Given the description of an element on the screen output the (x, y) to click on. 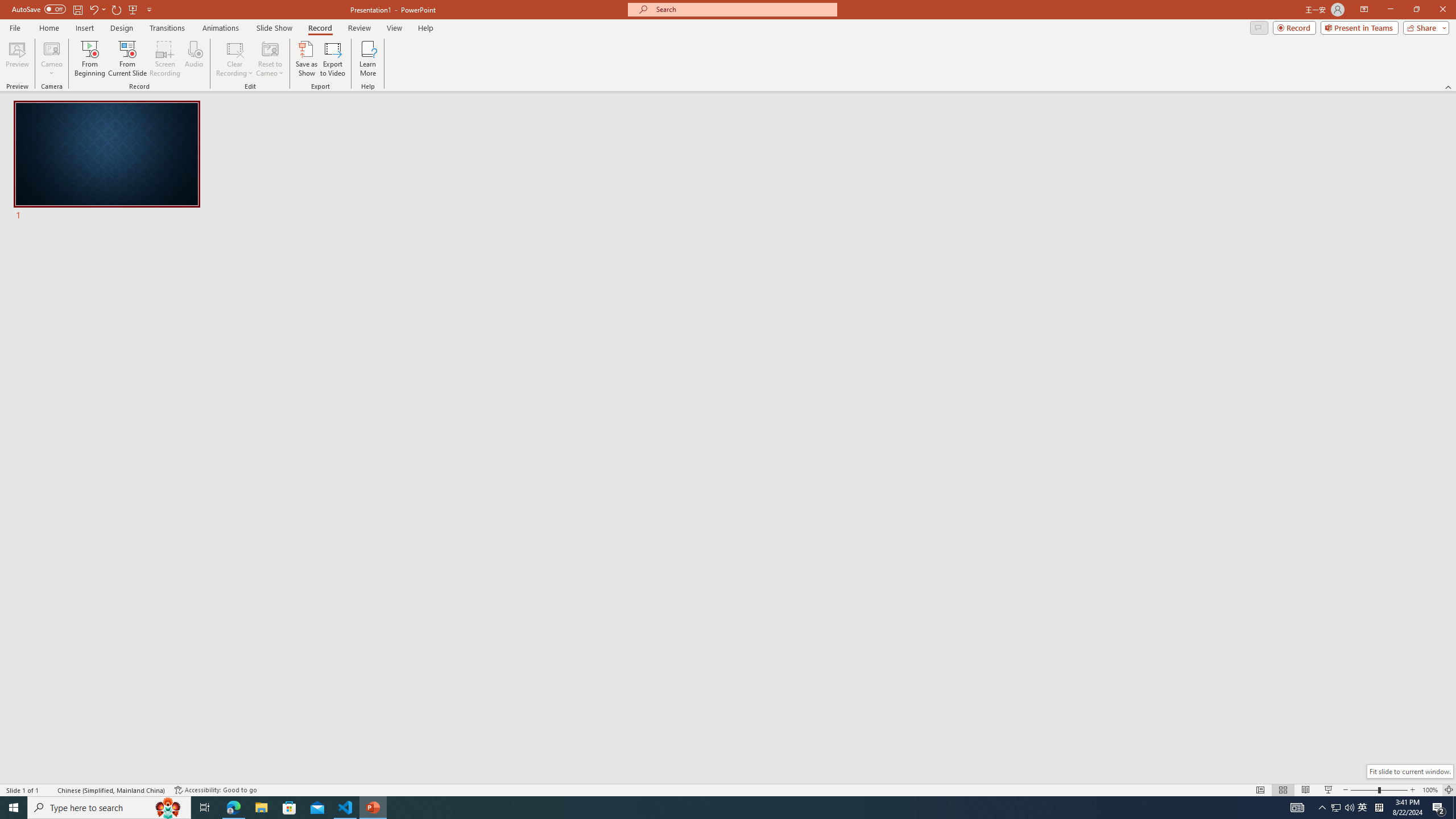
From Current Slide... (127, 58)
